Given the description of an element on the screen output the (x, y) to click on. 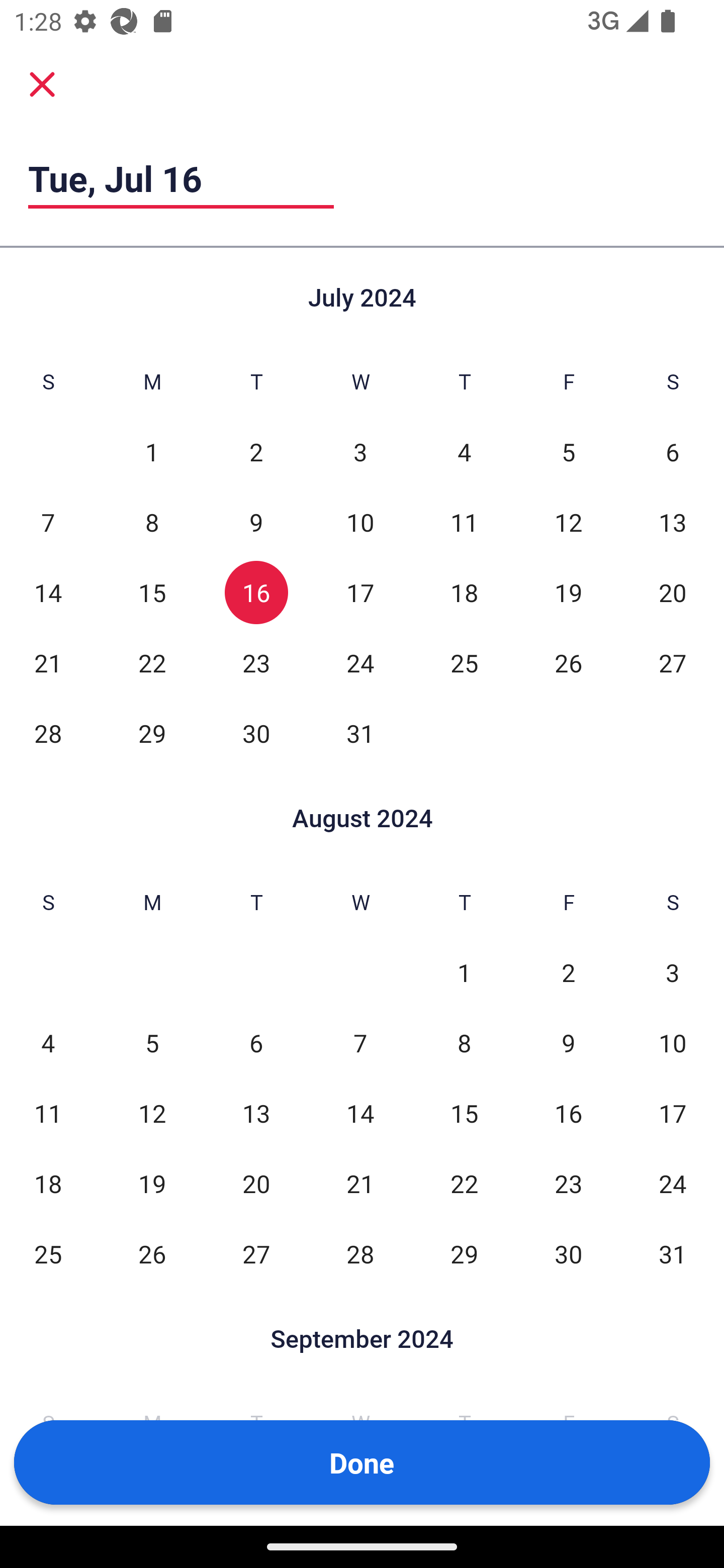
Cancel (42, 84)
Tue, Jul 16 (180, 178)
1 Mon, Jul 1, Not Selected (152, 452)
2 Tue, Jul 2, Not Selected (256, 452)
3 Wed, Jul 3, Not Selected (360, 452)
4 Thu, Jul 4, Not Selected (464, 452)
5 Fri, Jul 5, Not Selected (568, 452)
6 Sat, Jul 6, Not Selected (672, 452)
7 Sun, Jul 7, Not Selected (48, 521)
8 Mon, Jul 8, Not Selected (152, 521)
9 Tue, Jul 9, Not Selected (256, 521)
10 Wed, Jul 10, Not Selected (360, 521)
11 Thu, Jul 11, Not Selected (464, 521)
12 Fri, Jul 12, Not Selected (568, 521)
13 Sat, Jul 13, Not Selected (672, 521)
14 Sun, Jul 14, Not Selected (48, 591)
15 Mon, Jul 15, Not Selected (152, 591)
16 Tue, Jul 16, Selected (256, 591)
17 Wed, Jul 17, Not Selected (360, 591)
18 Thu, Jul 18, Not Selected (464, 591)
19 Fri, Jul 19, Not Selected (568, 591)
20 Sat, Jul 20, Not Selected (672, 591)
21 Sun, Jul 21, Not Selected (48, 662)
22 Mon, Jul 22, Not Selected (152, 662)
23 Tue, Jul 23, Not Selected (256, 662)
24 Wed, Jul 24, Not Selected (360, 662)
25 Thu, Jul 25, Not Selected (464, 662)
26 Fri, Jul 26, Not Selected (568, 662)
27 Sat, Jul 27, Not Selected (672, 662)
28 Sun, Jul 28, Not Selected (48, 732)
29 Mon, Jul 29, Not Selected (152, 732)
30 Tue, Jul 30, Not Selected (256, 732)
31 Wed, Jul 31, Not Selected (360, 732)
1 Thu, Aug 1, Not Selected (464, 972)
2 Fri, Aug 2, Not Selected (568, 972)
3 Sat, Aug 3, Not Selected (672, 972)
4 Sun, Aug 4, Not Selected (48, 1043)
5 Mon, Aug 5, Not Selected (152, 1043)
6 Tue, Aug 6, Not Selected (256, 1043)
7 Wed, Aug 7, Not Selected (360, 1043)
8 Thu, Aug 8, Not Selected (464, 1043)
9 Fri, Aug 9, Not Selected (568, 1043)
10 Sat, Aug 10, Not Selected (672, 1043)
11 Sun, Aug 11, Not Selected (48, 1112)
12 Mon, Aug 12, Not Selected (152, 1112)
13 Tue, Aug 13, Not Selected (256, 1112)
14 Wed, Aug 14, Not Selected (360, 1112)
15 Thu, Aug 15, Not Selected (464, 1112)
16 Fri, Aug 16, Not Selected (568, 1112)
17 Sat, Aug 17, Not Selected (672, 1112)
18 Sun, Aug 18, Not Selected (48, 1182)
19 Mon, Aug 19, Not Selected (152, 1182)
20 Tue, Aug 20, Not Selected (256, 1182)
21 Wed, Aug 21, Not Selected (360, 1182)
22 Thu, Aug 22, Not Selected (464, 1182)
23 Fri, Aug 23, Not Selected (568, 1182)
24 Sat, Aug 24, Not Selected (672, 1182)
25 Sun, Aug 25, Not Selected (48, 1253)
26 Mon, Aug 26, Not Selected (152, 1253)
27 Tue, Aug 27, Not Selected (256, 1253)
28 Wed, Aug 28, Not Selected (360, 1253)
29 Thu, Aug 29, Not Selected (464, 1253)
30 Fri, Aug 30, Not Selected (568, 1253)
31 Sat, Aug 31, Not Selected (672, 1253)
Done Button Done (361, 1462)
